Given the description of an element on the screen output the (x, y) to click on. 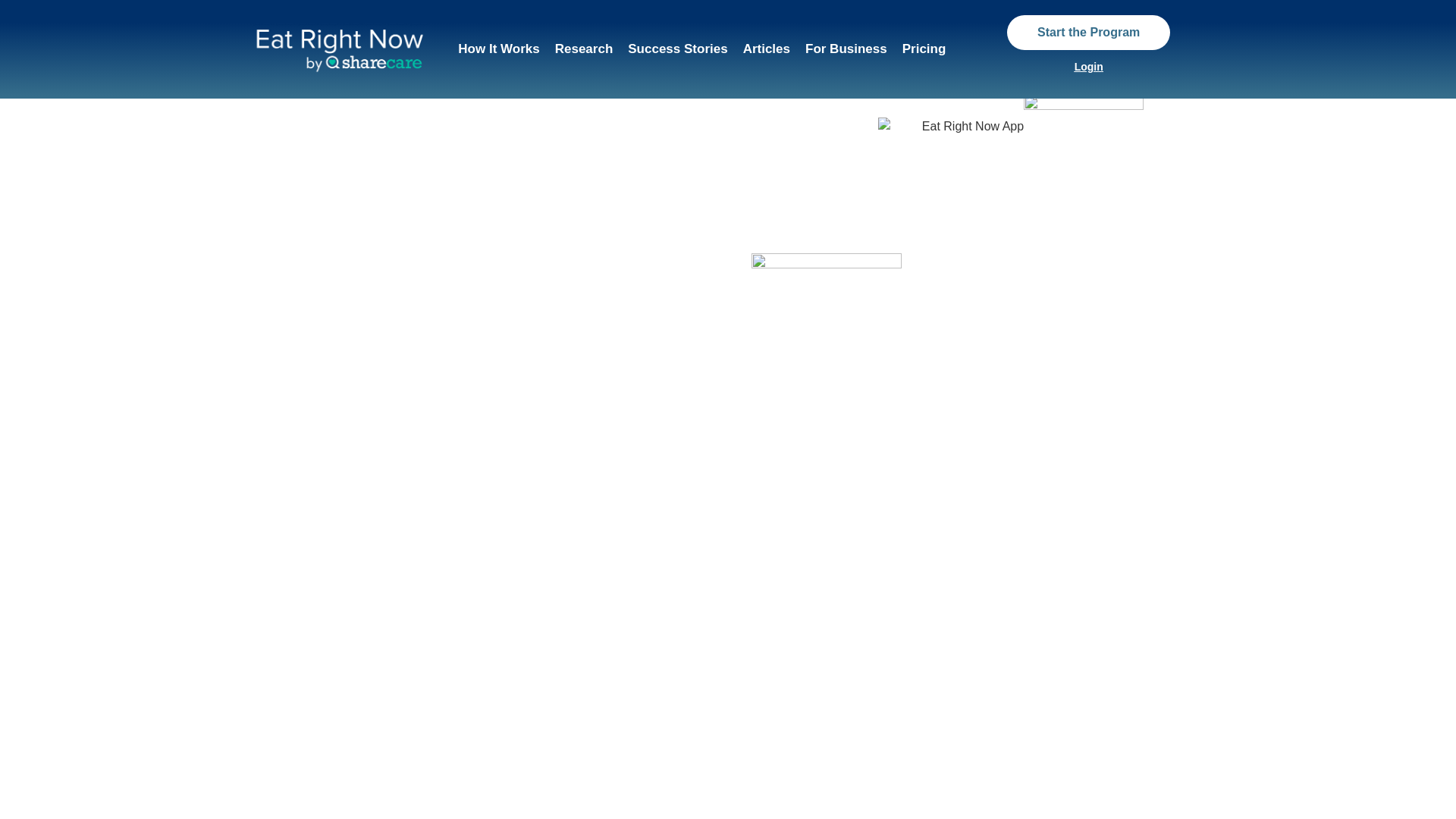
Pricing (924, 48)
Login (1088, 66)
Start the Program (1088, 32)
How It Works (498, 48)
Success Stories (677, 48)
Articles (766, 48)
Research (584, 48)
For Business (846, 48)
